Given the description of an element on the screen output the (x, y) to click on. 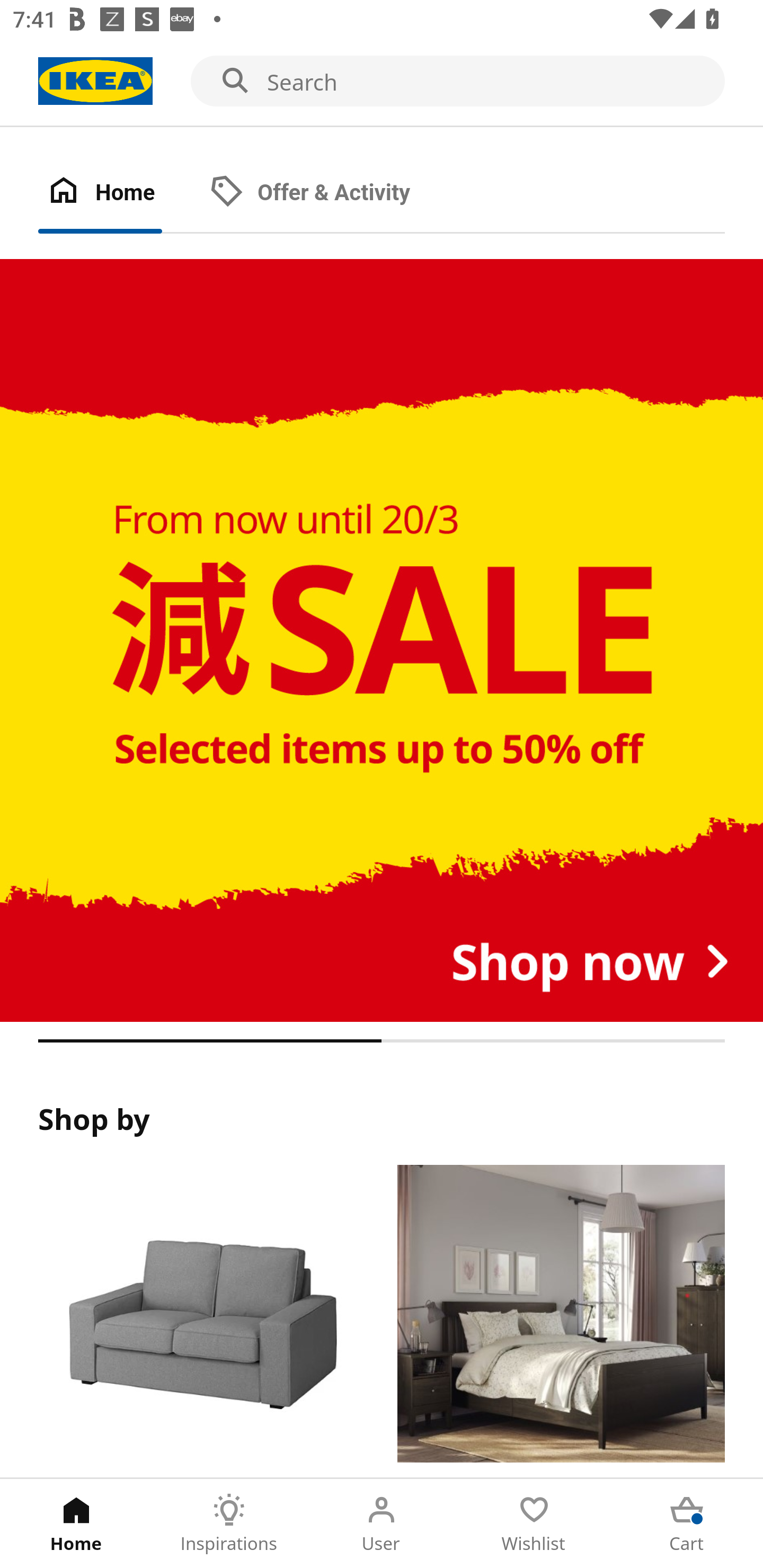
Search (381, 81)
Home
Tab 1 of 2 (118, 192)
Offer & Activity
Tab 2 of 2 (327, 192)
Products (201, 1321)
Rooms (560, 1321)
Home
Tab 1 of 5 (76, 1522)
Inspirations
Tab 2 of 5 (228, 1522)
User
Tab 3 of 5 (381, 1522)
Wishlist
Tab 4 of 5 (533, 1522)
Cart
Tab 5 of 5 (686, 1522)
